Given the description of an element on the screen output the (x, y) to click on. 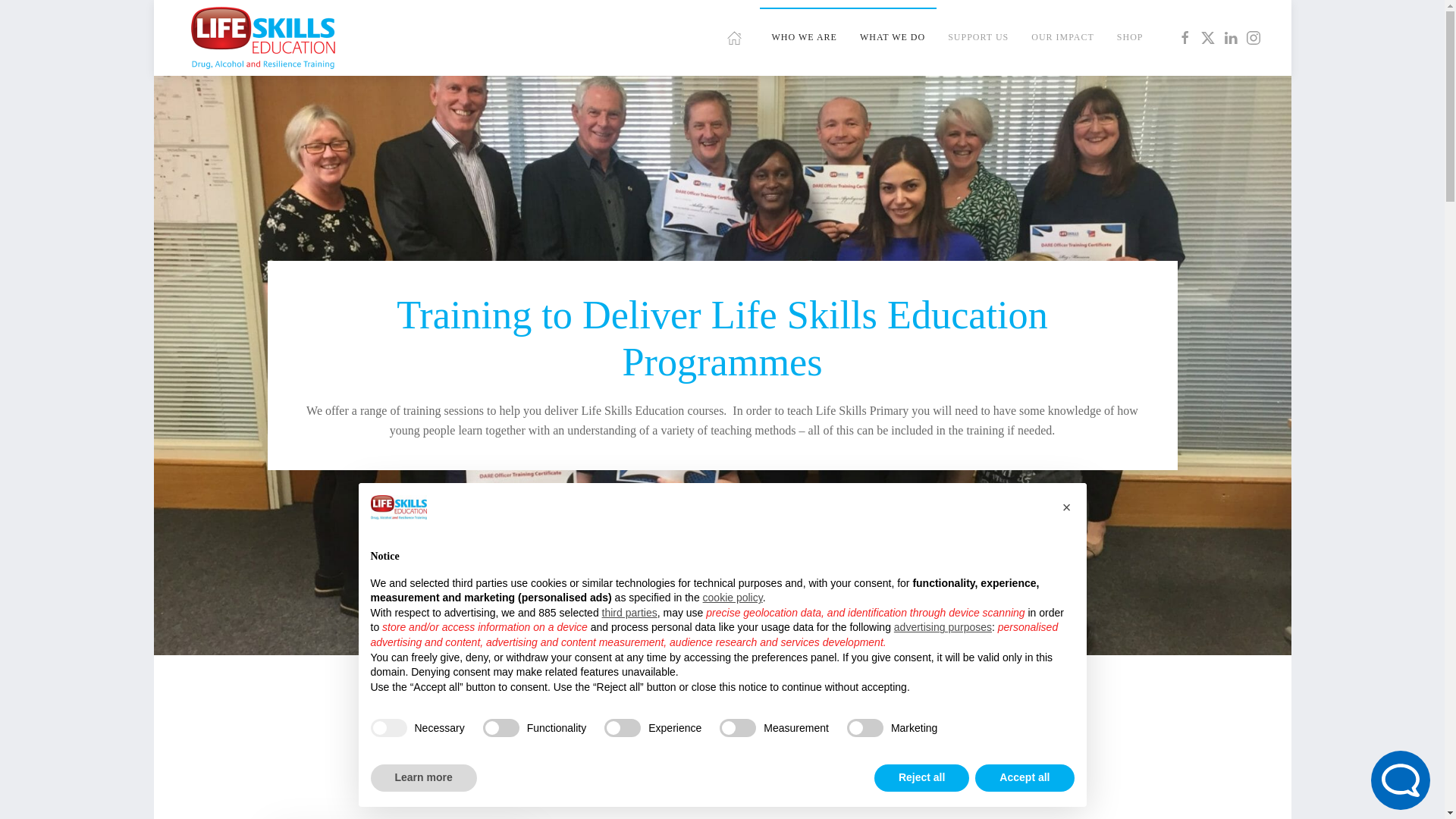
true (387, 728)
false (737, 728)
false (622, 728)
WHAT WE DO (892, 37)
WHO WE ARE (803, 37)
false (501, 728)
false (865, 728)
